Given the description of an element on the screen output the (x, y) to click on. 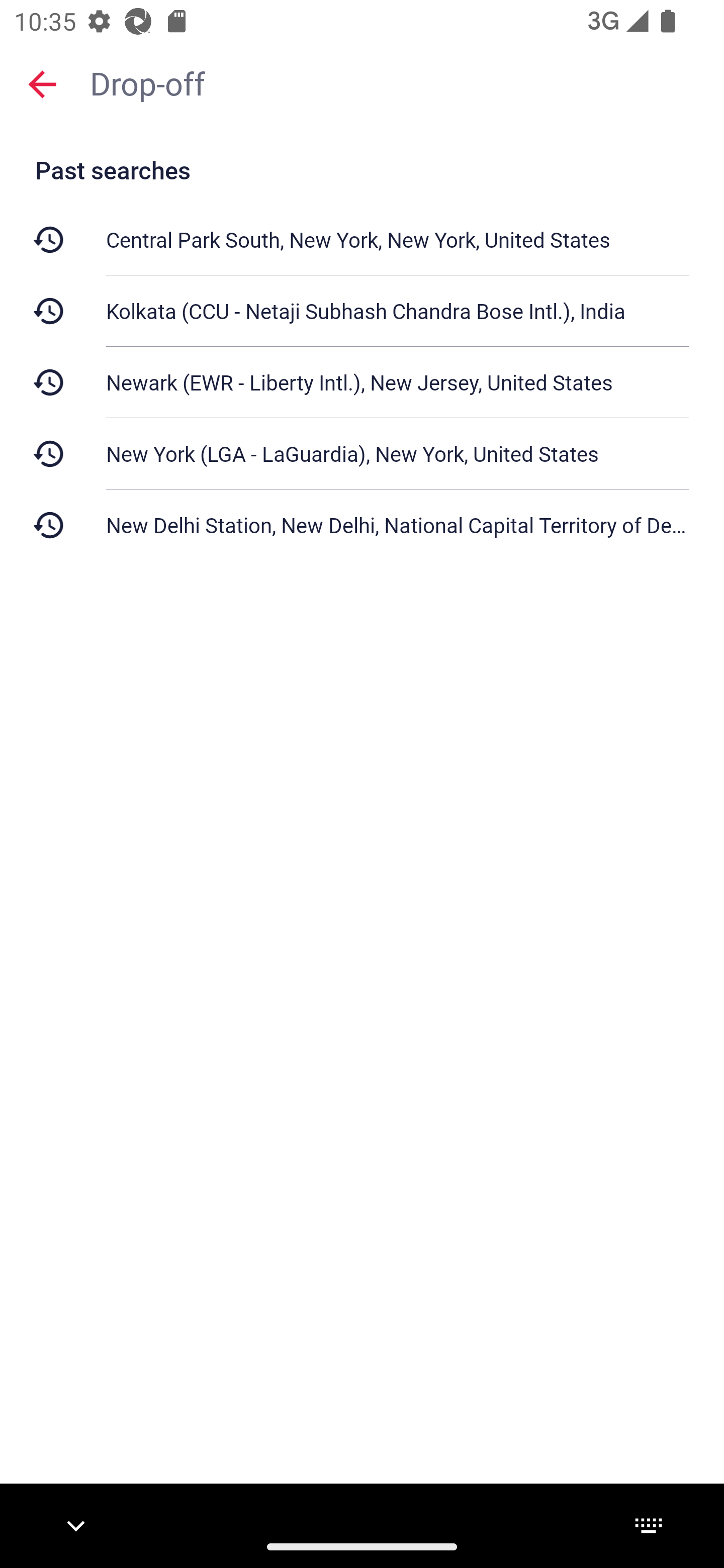
Drop-off,  (397, 82)
Close search screen (41, 83)
